Given the description of an element on the screen output the (x, y) to click on. 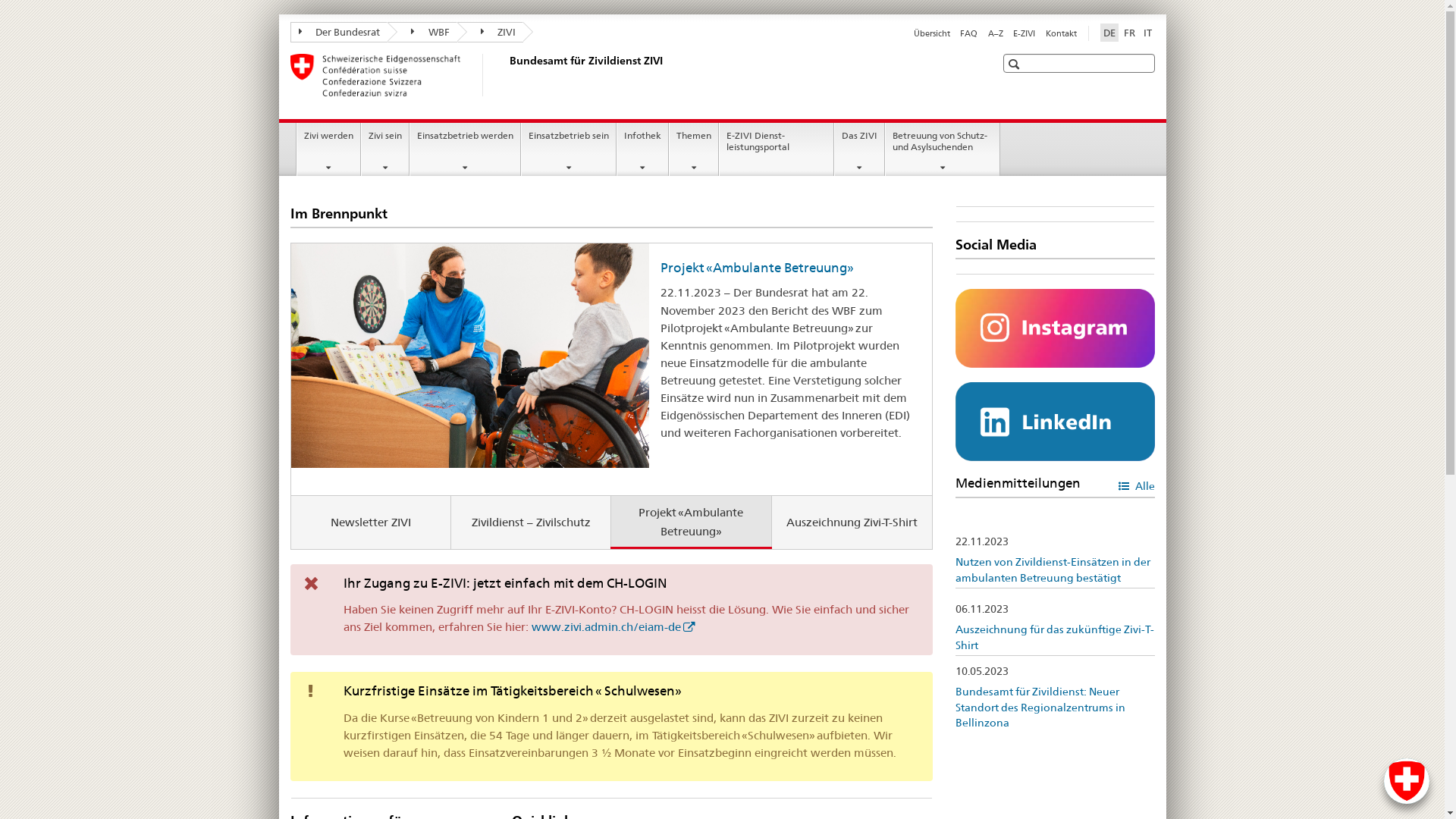
www.zivi.admin.ch/eiam-de Element type: text (611, 626)
E-ZIVI Dienst- leistungsportal Element type: text (776, 148)
WBF Element type: text (422, 31)
Auszeichnung Zivi-T-Shirt Element type: text (851, 521)
FR Element type: text (1129, 32)
Der Bundesrat Element type: text (338, 31)
Zivi sein Element type: text (384, 148)
Das ZIVI Element type: text (859, 148)
DE Element type: text (1108, 32)
Themen Element type: text (693, 148)
E-ZIVI Element type: text (1024, 33)
Newsletter ZIVI - jetzt anmelden! Element type: text (760, 267)
Zum Newsletter Element type: text (709, 449)
ZIVI Element type: text (489, 31)
Einsatzbetrieb werden Element type: text (465, 148)
Einsatzbetrieb sein Element type: text (568, 148)
FAQ Element type: text (968, 33)
Alle Element type: text (1135, 484)
Betreuung von Schutz- und Asylsuchenden Element type: text (942, 148)
Newsletter ZIVI Element type: text (371, 521)
IT Element type: text (1147, 32)
Zivi werden Element type: text (328, 148)
Kontakt Element type: text (1060, 33)
Infothek Element type: text (642, 148)
